Given the description of an element on the screen output the (x, y) to click on. 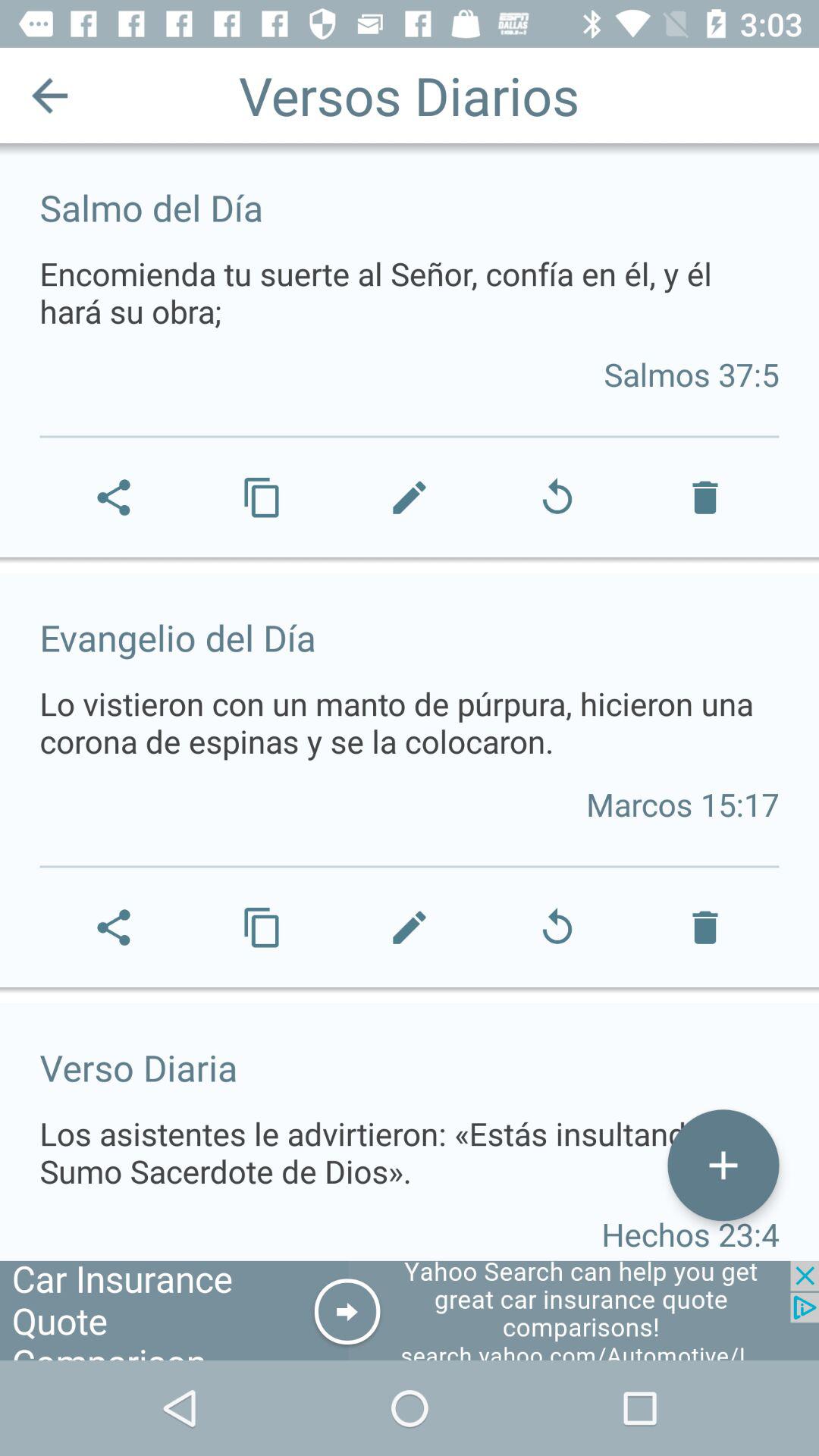
add item (723, 1165)
